Given the description of an element on the screen output the (x, y) to click on. 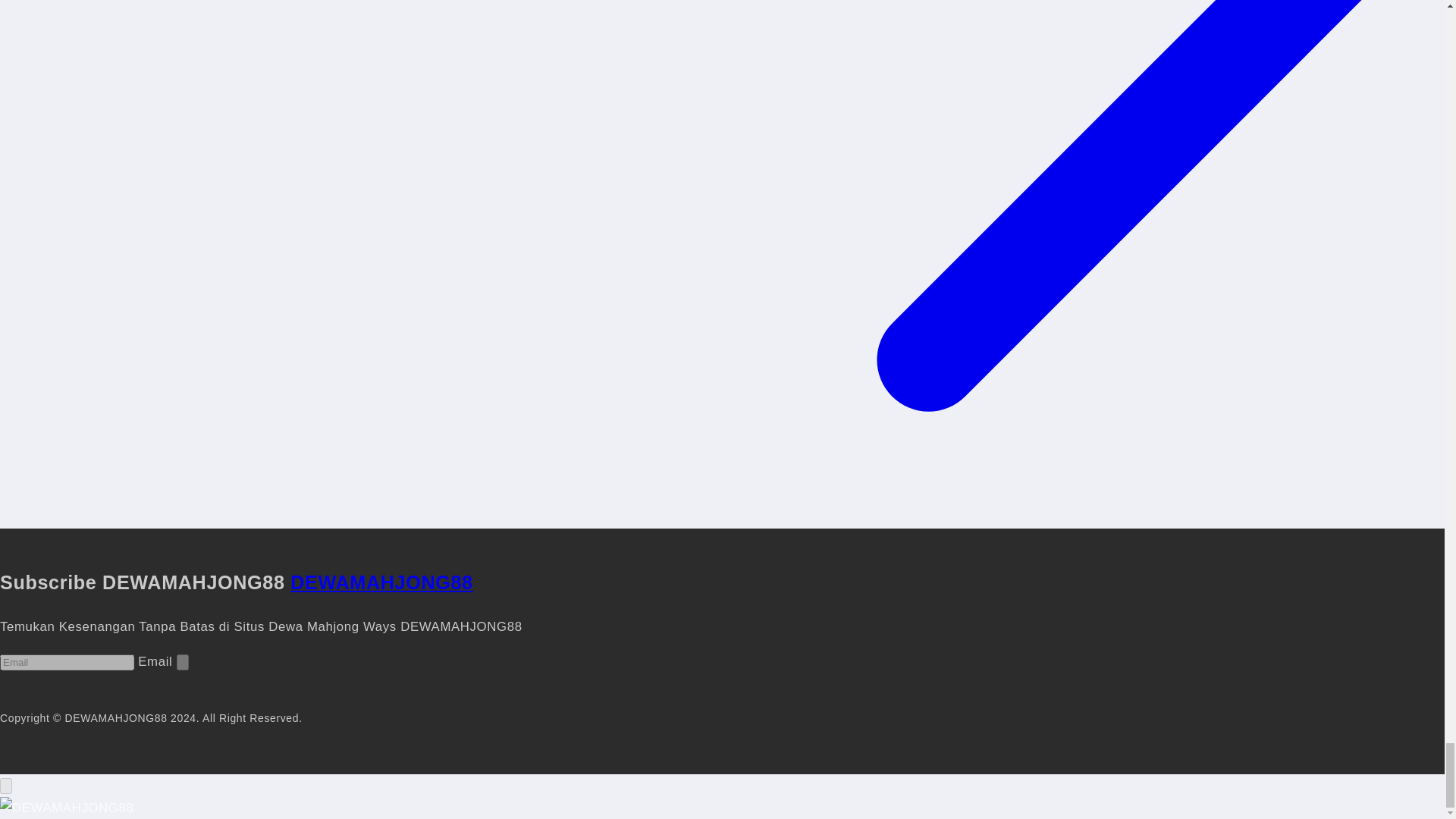
DEWAMAHJONG88 (381, 581)
